Given the description of an element on the screen output the (x, y) to click on. 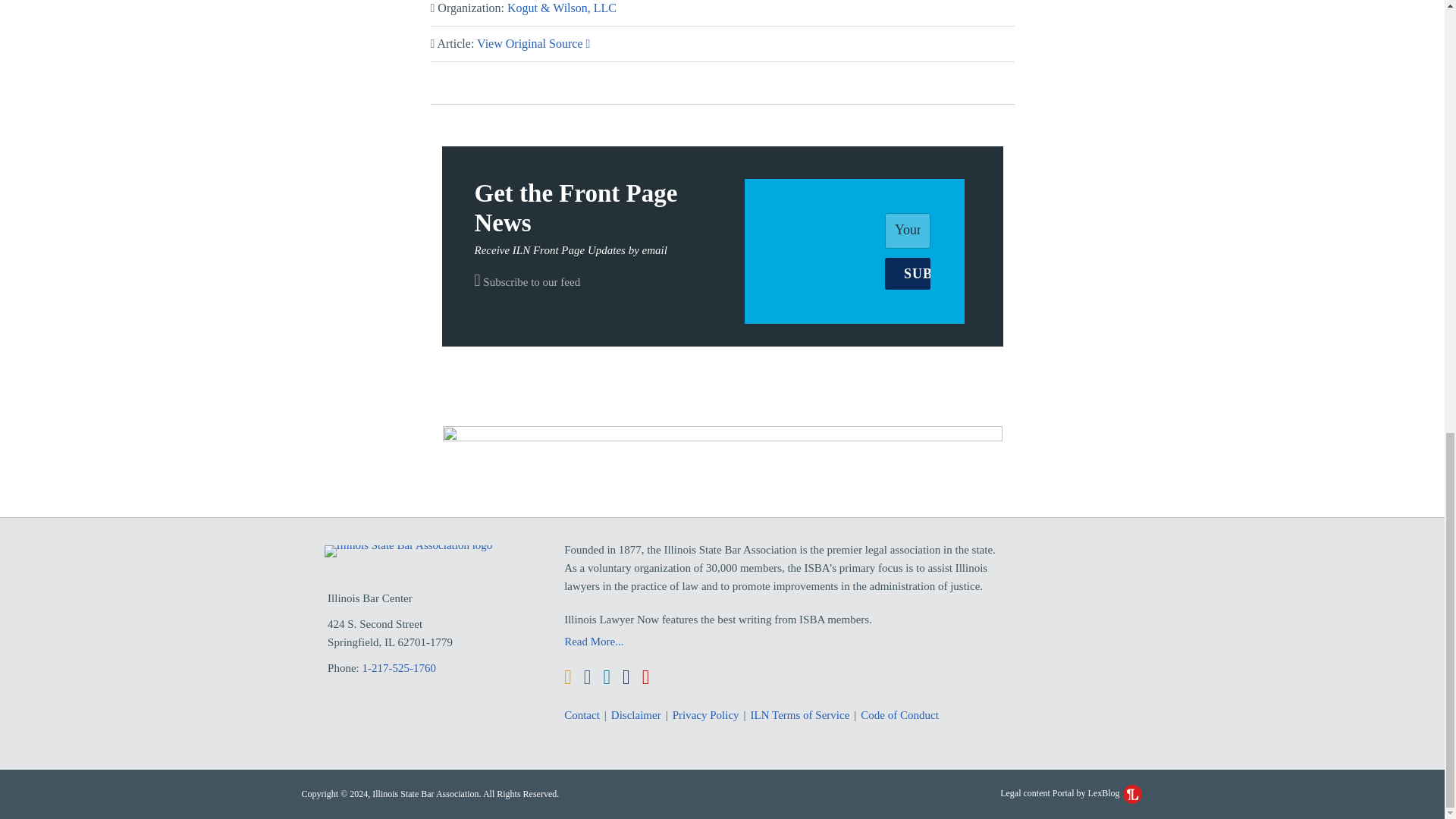
Disclaimer (636, 714)
ILN Terms of Service (800, 714)
LexBlog Logo (1131, 793)
Subscribe to our feed (527, 282)
1-217-525-1760 (399, 667)
SUBSCRIBE (907, 273)
View Original Source (533, 42)
Privacy Policy (705, 714)
Contact (581, 714)
Read More... (786, 641)
SUBSCRIBE (907, 273)
